Given the description of an element on the screen output the (x, y) to click on. 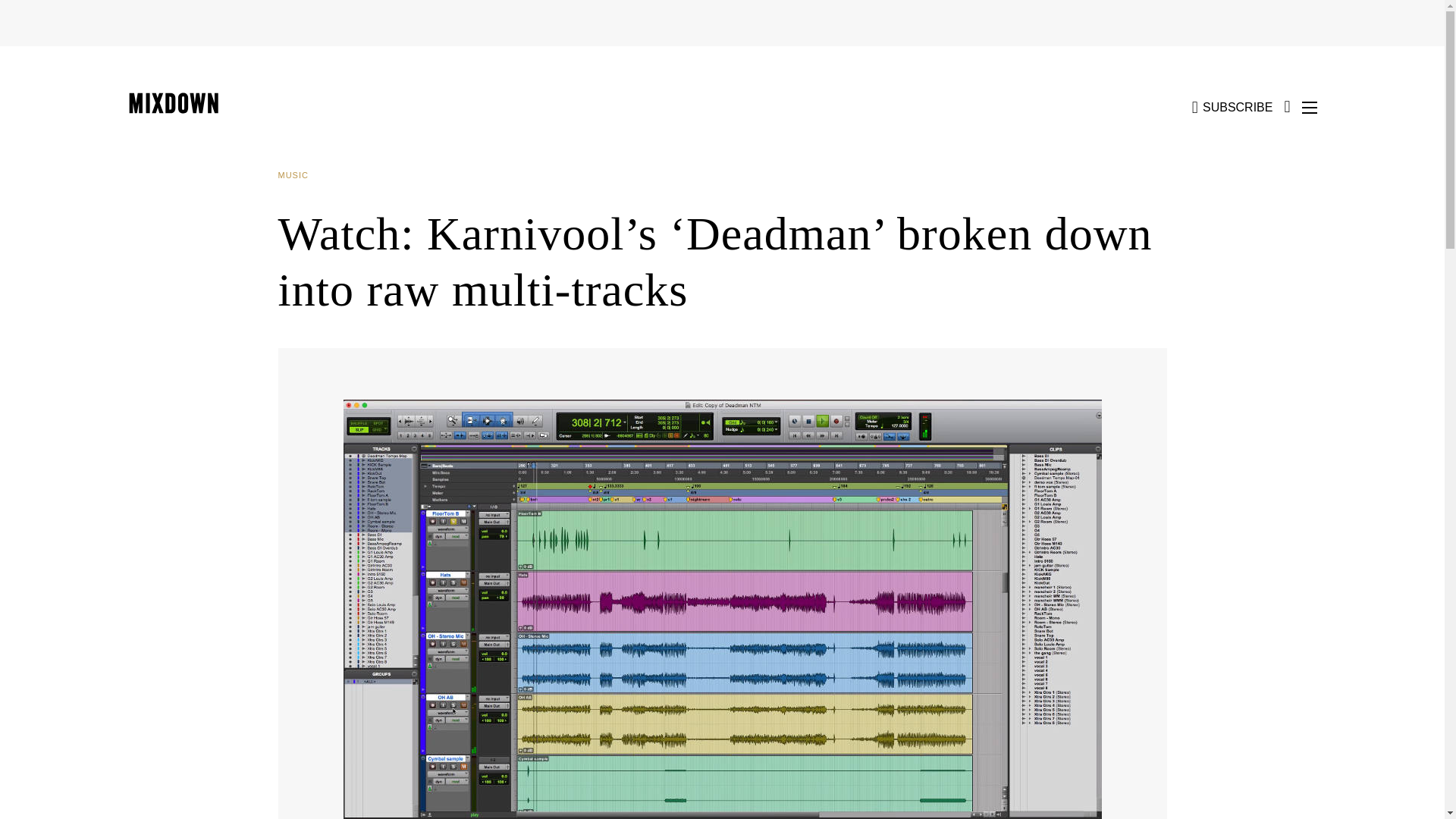
MUSIC (298, 175)
